Given the description of an element on the screen output the (x, y) to click on. 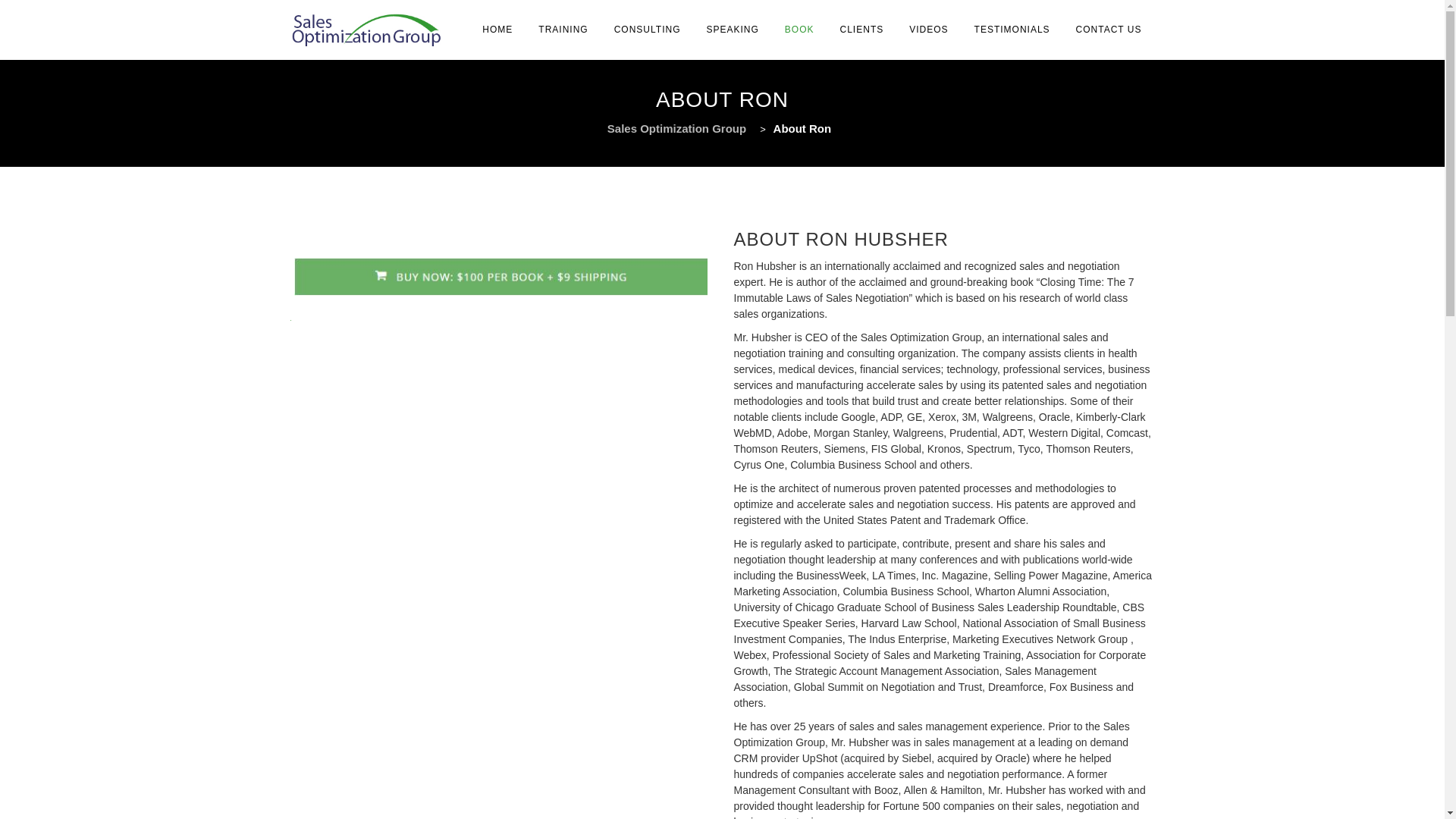
Our Book (685, 770)
Clients (805, 770)
About Ron (748, 770)
Sales Optimization Group  (365, 29)
BOOK (799, 29)
SPEAKING (732, 29)
Testimonials (912, 770)
Sales Optimization Group (680, 128)
Training (503, 770)
Videos (852, 770)
